Given the description of an element on the screen output the (x, y) to click on. 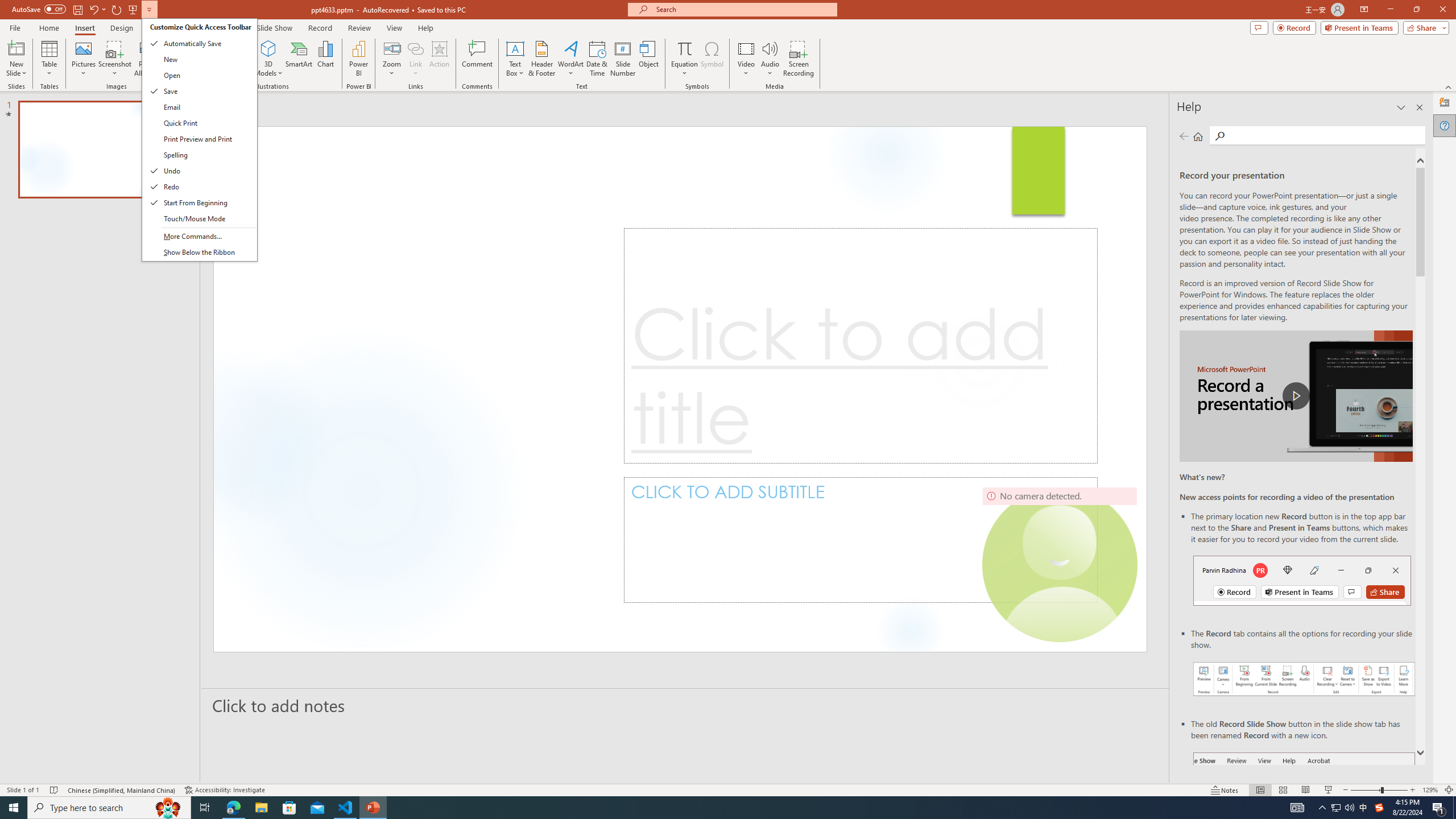
Header & Footer... (541, 58)
Comment (476, 58)
Chart... (325, 58)
Video (745, 58)
